Given the description of an element on the screen output the (x, y) to click on. 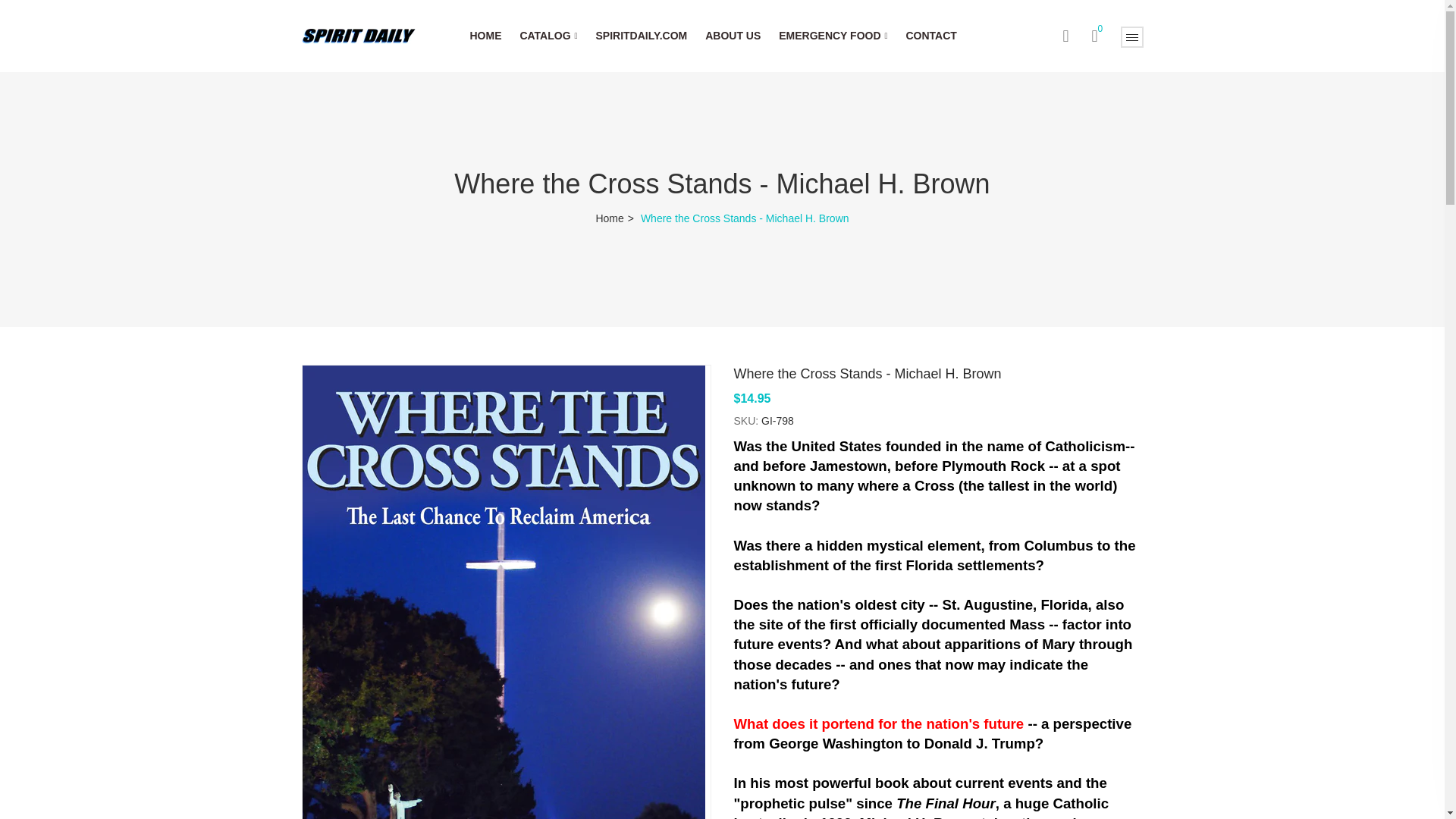
Back to the home page (616, 218)
EMERGENCY FOOD (832, 36)
SPIRITDAILY.COM (641, 36)
